Given the description of an element on the screen output the (x, y) to click on. 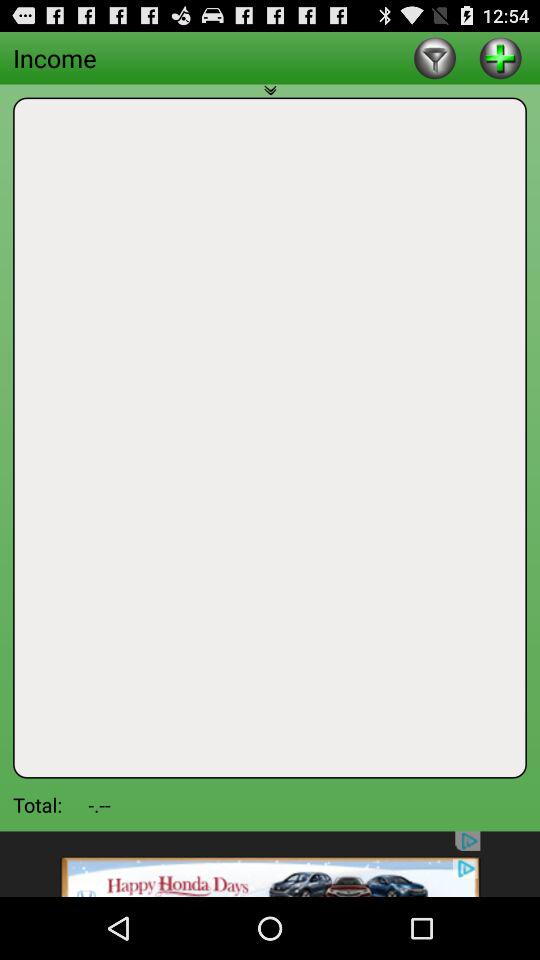
go to lite option (434, 57)
